Given the description of an element on the screen output the (x, y) to click on. 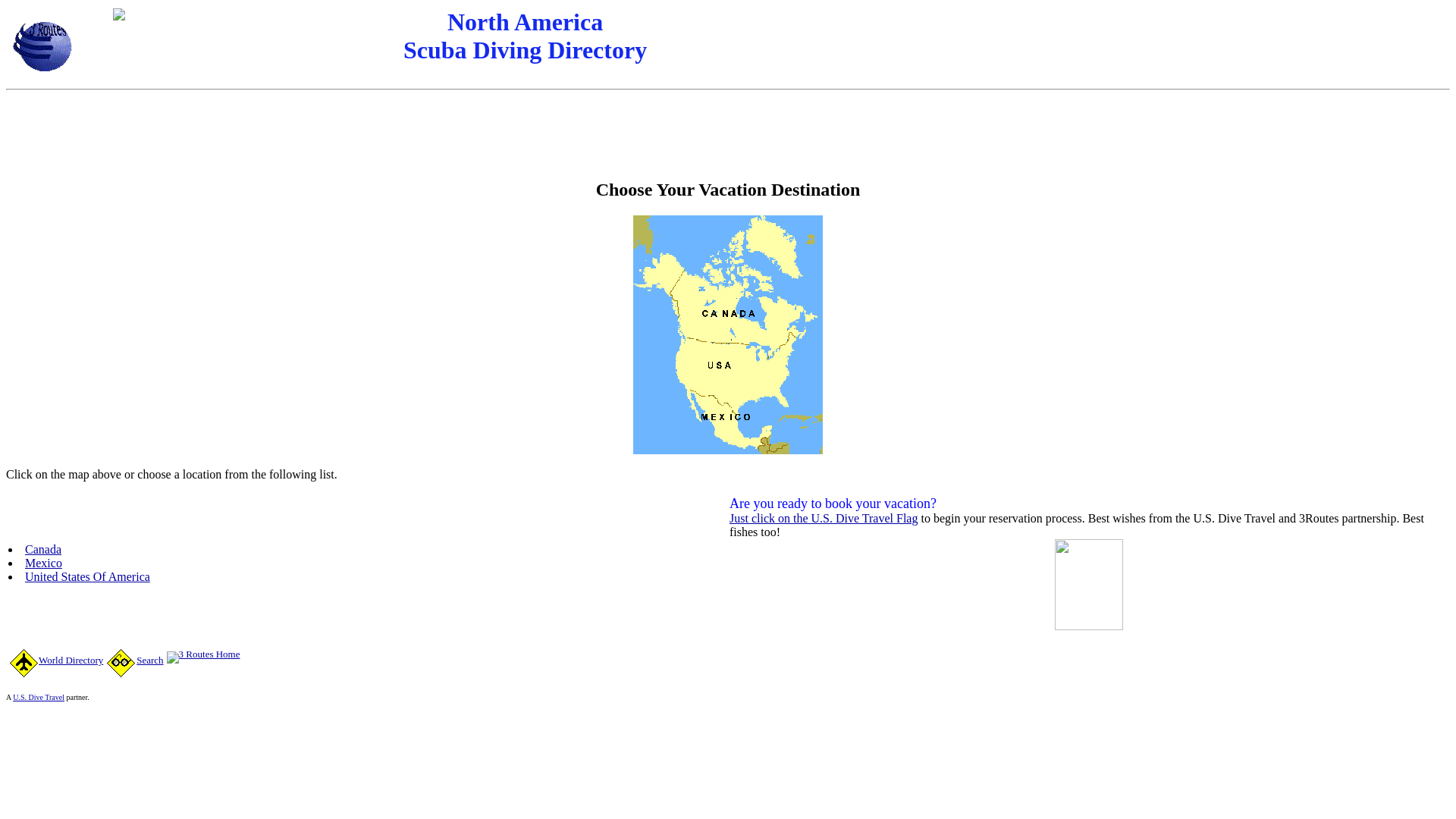
Canada Element type: text (43, 548)
Mexico Element type: text (43, 562)
U.S. Dive Travel Element type: text (38, 697)
United States Of America Element type: text (87, 576)
Advertisement Element type: hover (727, 130)
Just click on the U.S. Dive Travel Flag Element type: text (823, 517)
3 Routes Home Element type: text (203, 653)
World Directory Element type: text (55, 659)
Search Element type: text (134, 659)
